Given the description of an element on the screen output the (x, y) to click on. 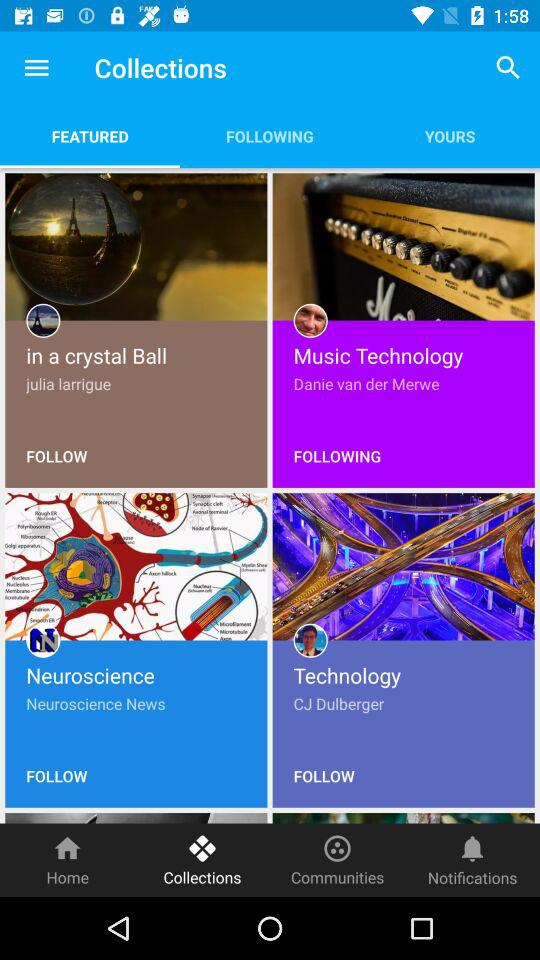
tap the app above the yours (508, 67)
